Given the description of an element on the screen output the (x, y) to click on. 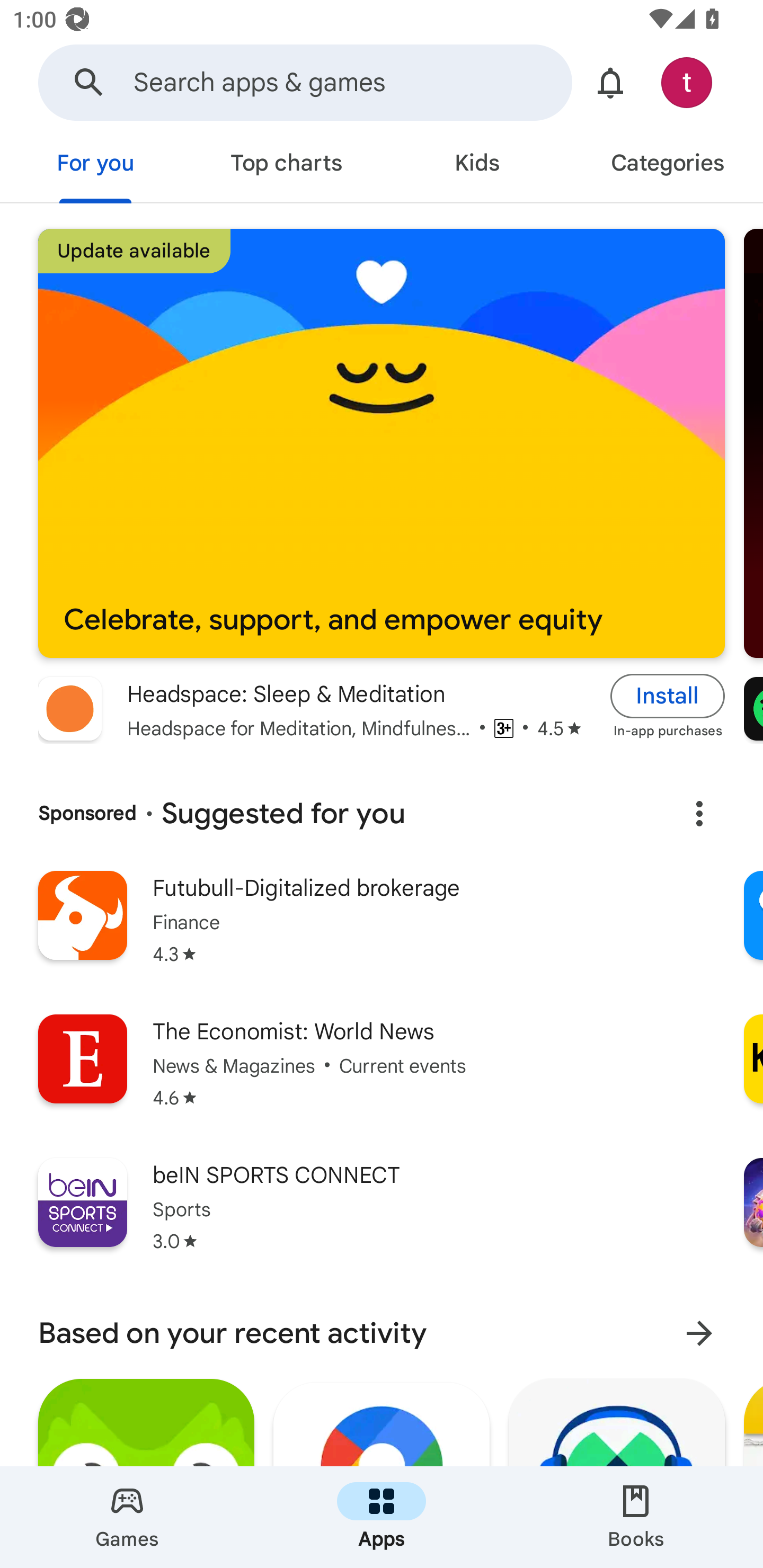
Search Google Play Search apps & games (305, 81)
Search Google Play (89, 81)
Show notifications and offers. (610, 81)
Top charts (285, 165)
Kids (476, 165)
Categories (667, 165)
Install (667, 695)
About this ad (699, 813)
beIN SPORTS CONNECT
Sports
Star rating: 3.0
 (381, 1216)
More results for Based on your recent activity (699, 1333)
Games (127, 1517)
Books (635, 1517)
